Given the description of an element on the screen output the (x, y) to click on. 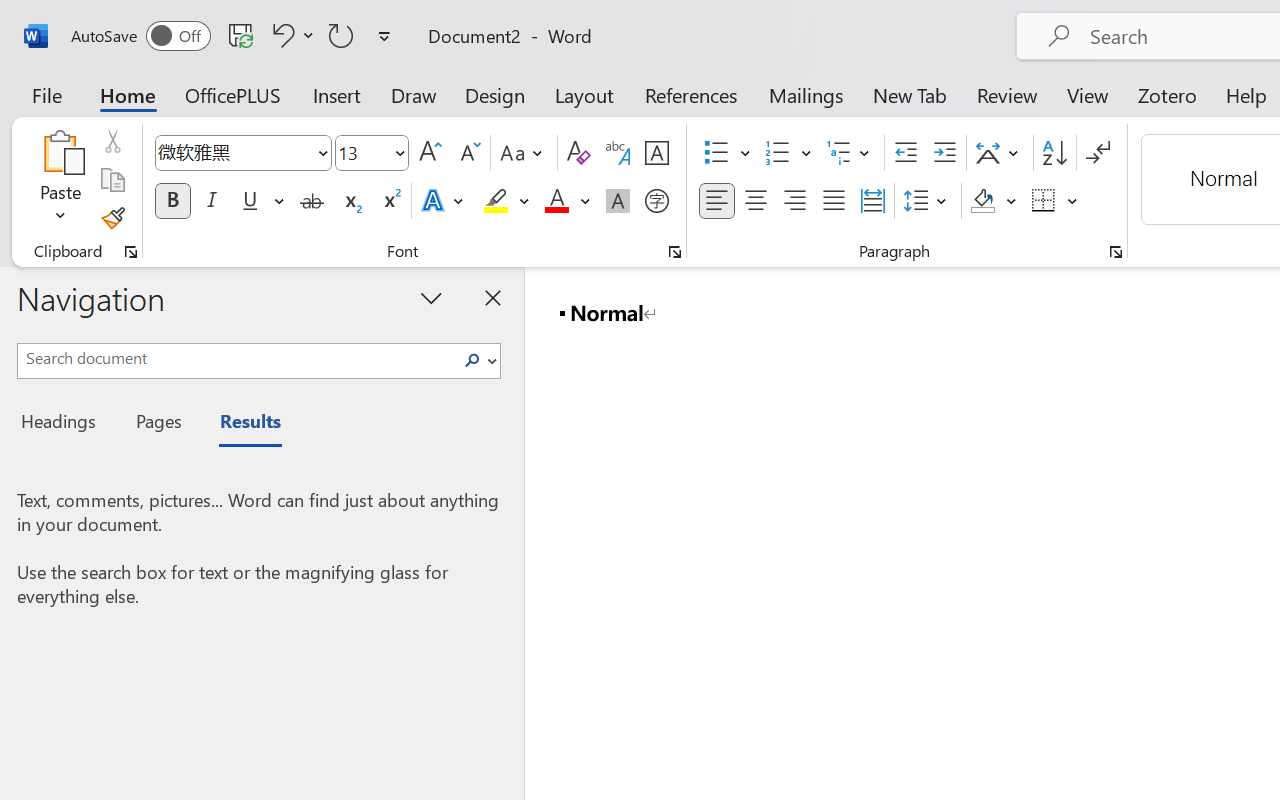
Strikethrough (312, 201)
Asian Layout (1000, 153)
View (1087, 94)
Paste (60, 151)
Character Border (656, 153)
Distributed (872, 201)
Superscript (390, 201)
Text Highlight Color (506, 201)
Home (127, 94)
Font Color (567, 201)
Font Size (372, 153)
Shading (993, 201)
Borders (1055, 201)
Paste (60, 179)
Mailings (806, 94)
